Given the description of an element on the screen output the (x, y) to click on. 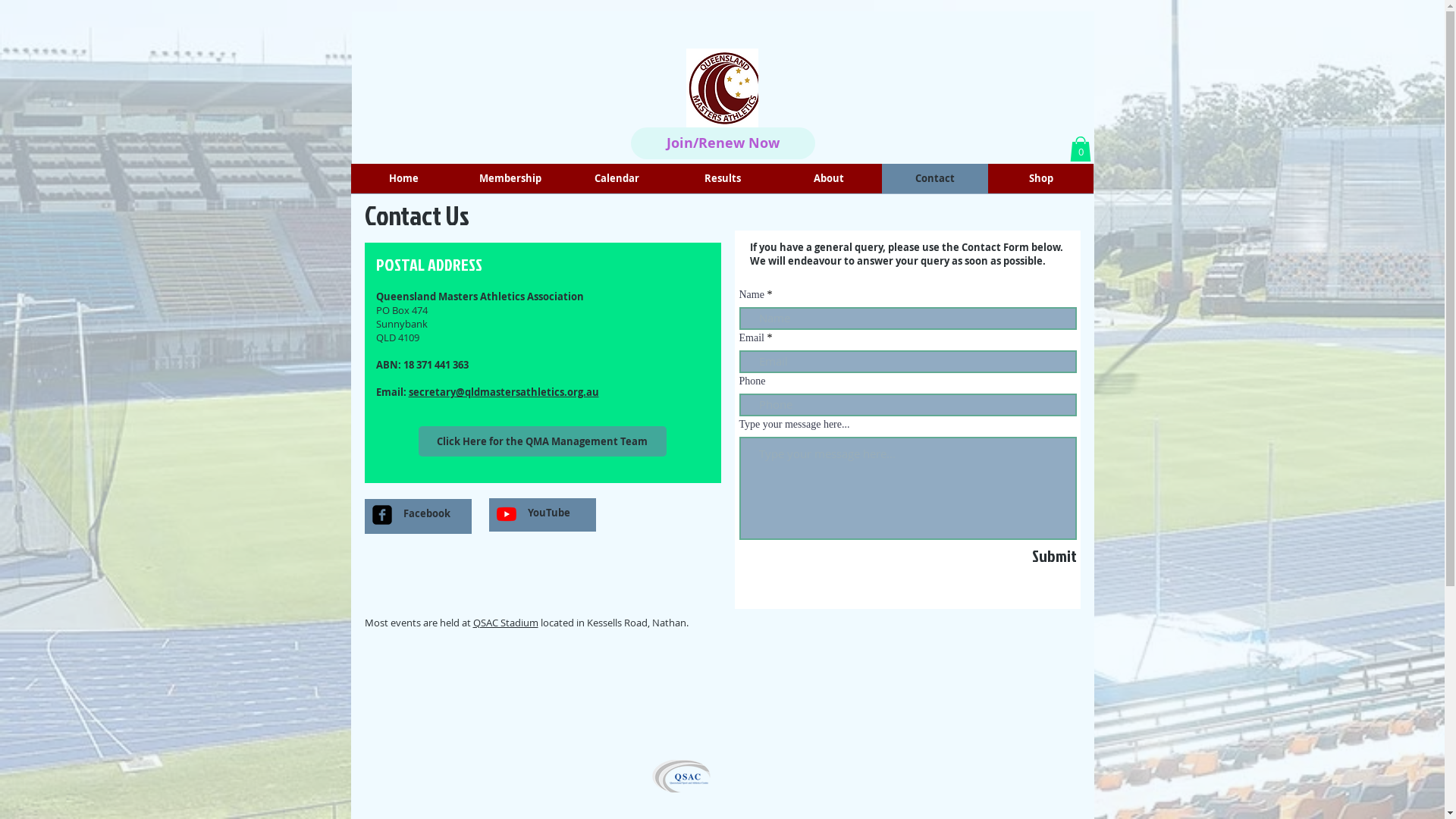
Home Element type: text (403, 178)
Submit Element type: text (1005, 555)
0 Element type: text (1079, 148)
Membership Element type: text (509, 178)
About Element type: text (828, 178)
Shop Element type: text (1039, 178)
Click Here for the QMA Management Team Element type: text (542, 441)
Contact Element type: text (934, 178)
Join/Renew Now Element type: text (722, 143)
QSAC Stadium Element type: text (505, 622)
secretary@qldmastersathletics.org.au Element type: text (502, 391)
